Given the description of an element on the screen output the (x, y) to click on. 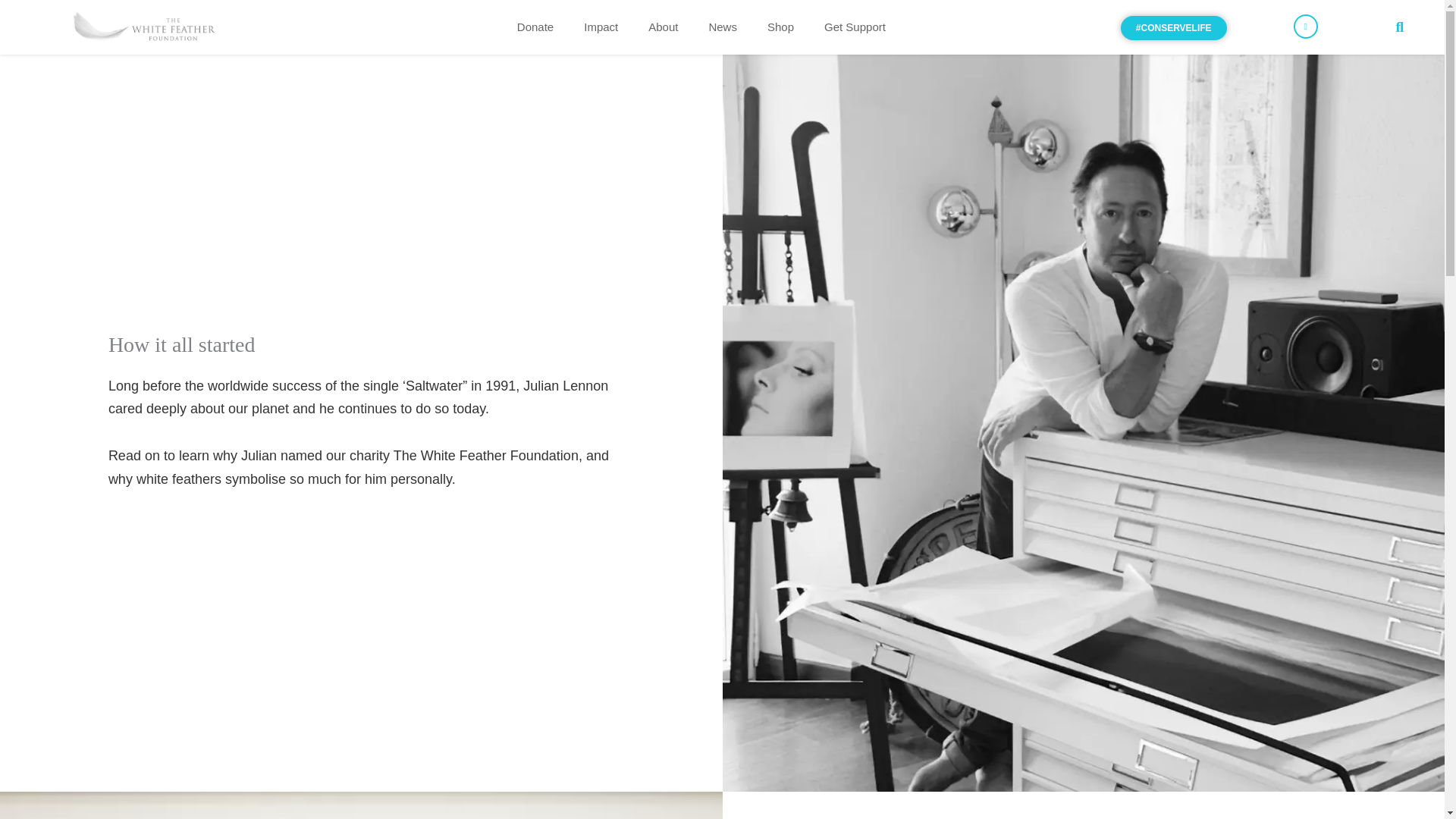
Shop (780, 27)
About (663, 27)
Donate (535, 27)
Impact (601, 27)
News (722, 27)
Get Support (855, 27)
